Given the description of an element on the screen output the (x, y) to click on. 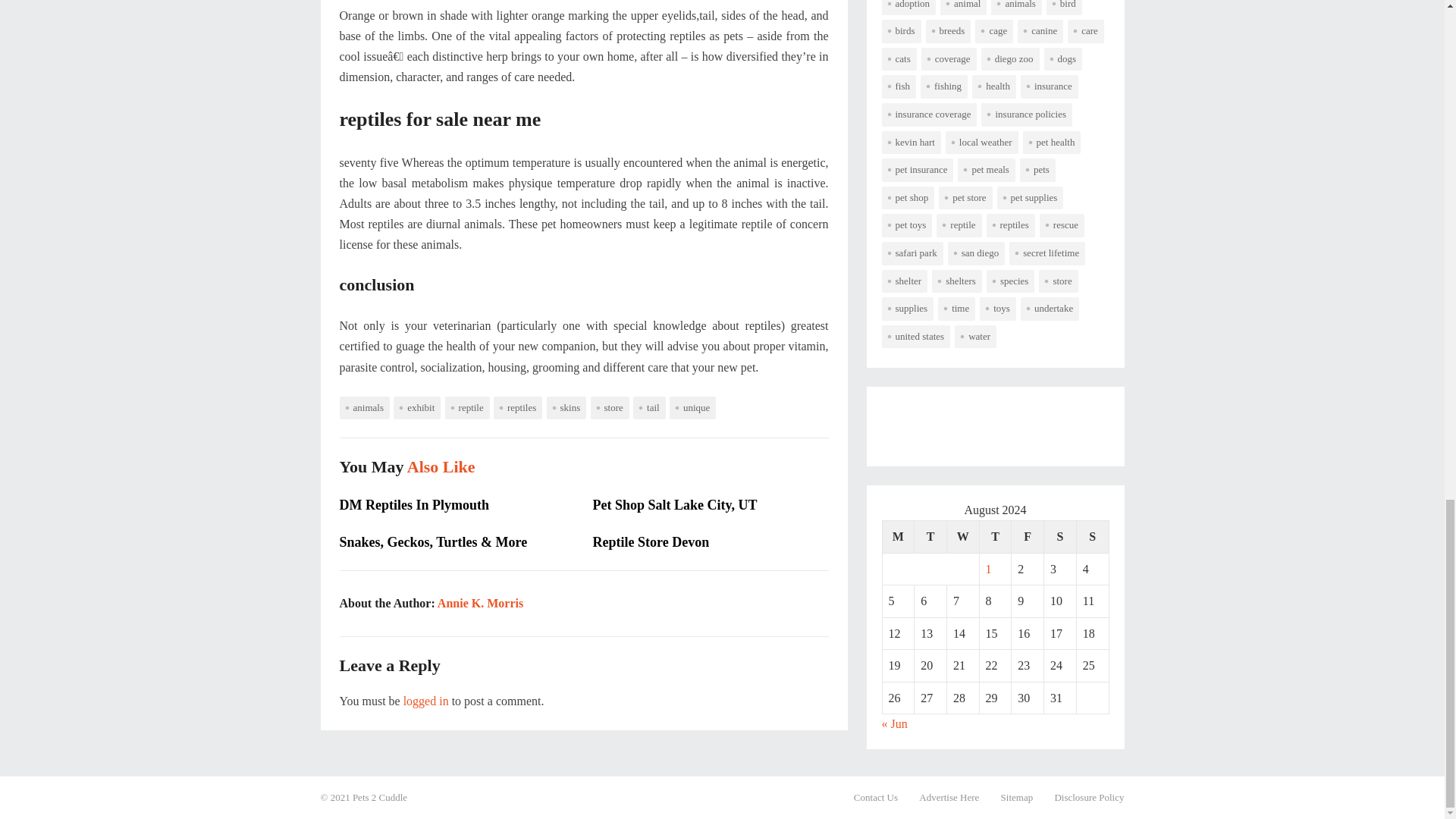
Friday (1027, 536)
Thursday (994, 536)
Wednesday (962, 536)
Saturday (1060, 536)
Sunday (1091, 536)
Monday (898, 536)
Tuesday (930, 536)
